Given the description of an element on the screen output the (x, y) to click on. 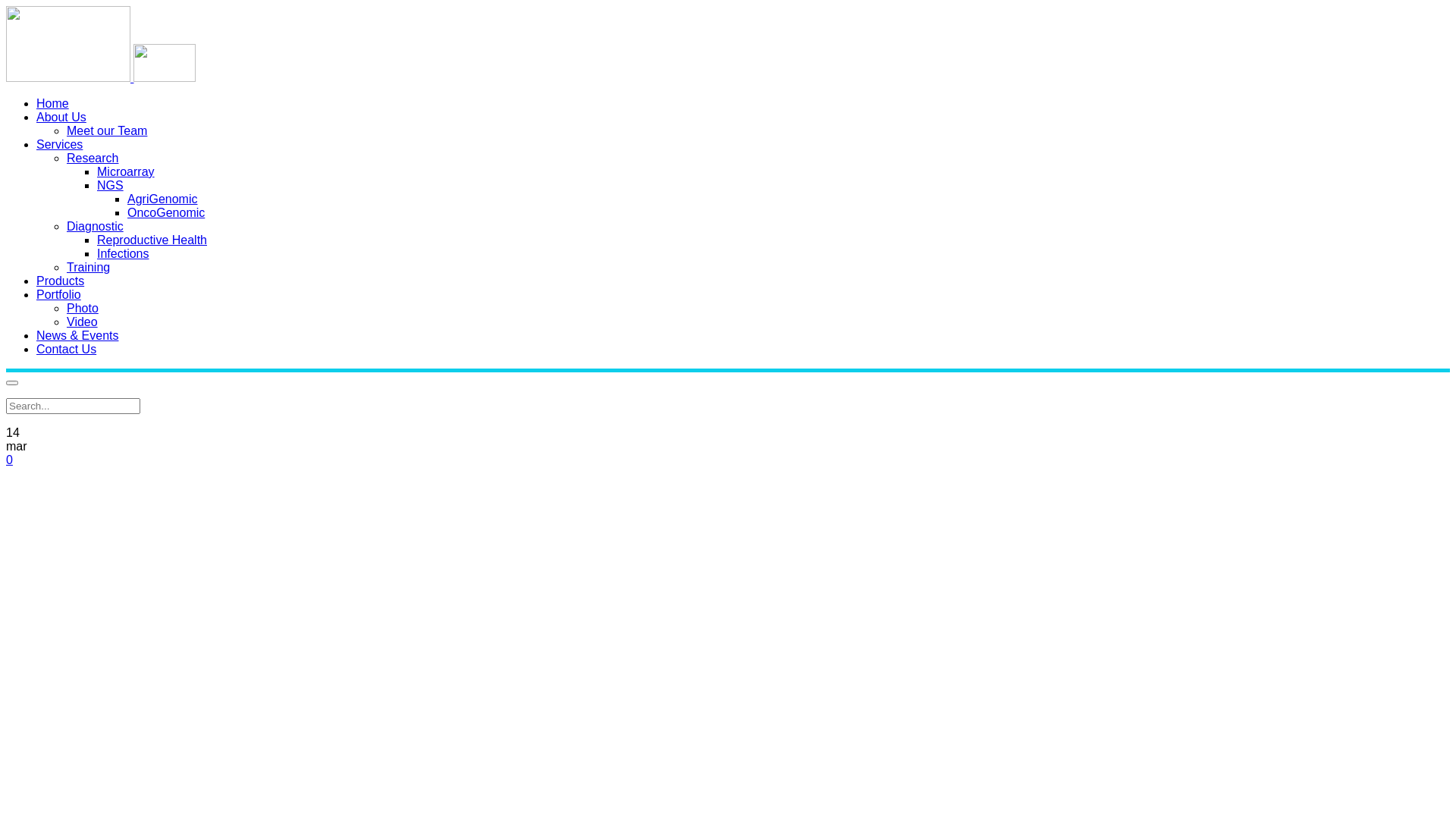
0 Element type: text (9, 459)
AgriGenomic Element type: text (162, 198)
NGS Element type: text (110, 184)
News & Events Element type: text (77, 335)
Contact Us Element type: text (66, 348)
Portfolio Element type: text (58, 294)
About Us Element type: text (61, 116)
Meet our Team Element type: text (106, 130)
Training Element type: text (87, 266)
Research Element type: text (92, 157)
Diagnostic Element type: text (94, 225)
Photo Element type: text (82, 307)
Reproductive Health Element type: text (152, 239)
Infections Element type: text (122, 253)
Products Element type: text (60, 280)
Video Element type: text (81, 321)
OncoGenomic Element type: text (165, 212)
Home Element type: text (52, 103)
Services Element type: text (59, 144)
Microarray Element type: text (125, 171)
